Given the description of an element on the screen output the (x, y) to click on. 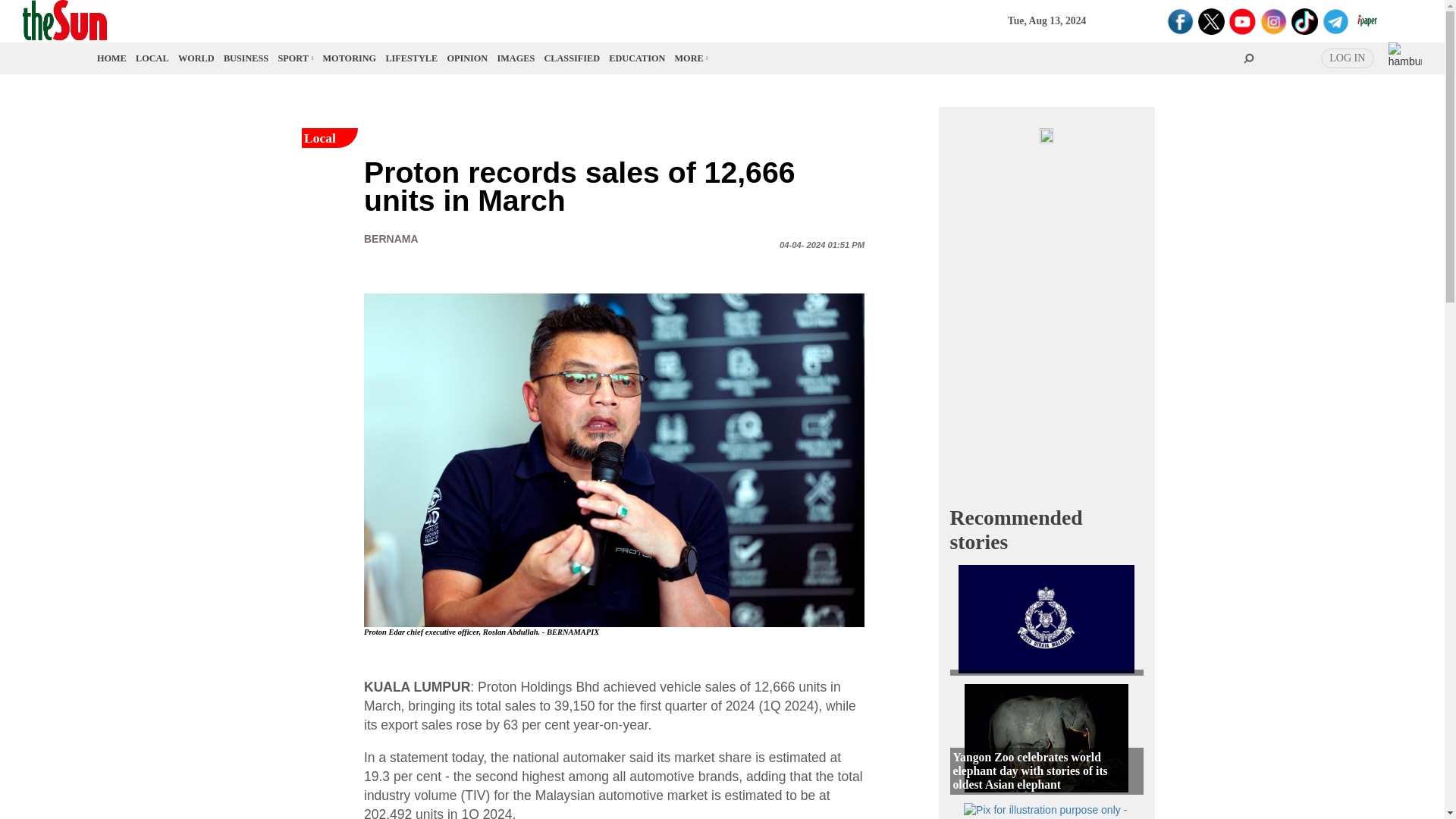
LOCAL (151, 57)
MORE (690, 57)
EDUCATION (636, 57)
CLASSIFIED (571, 57)
WORLD (195, 57)
Local (151, 57)
MOTORING (350, 57)
IMAGES (516, 57)
HOME (111, 57)
LOG IN (1347, 57)
